Given the description of an element on the screen output the (x, y) to click on. 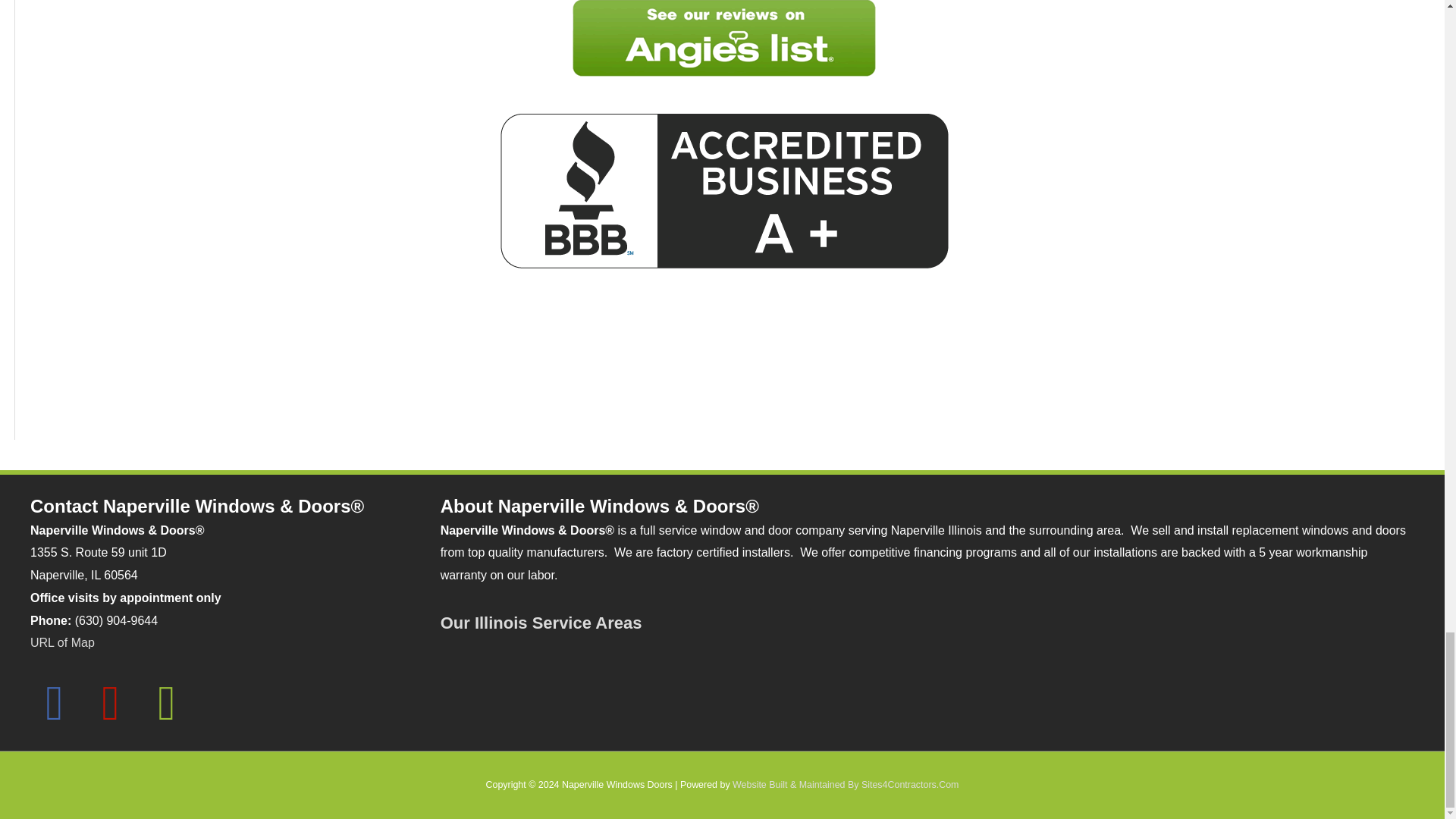
angies-list-reviews-replacement-windows (723, 38)
marvin-authorized (723, 361)
bbb-accredited-window-replacements (723, 190)
